Given the description of an element on the screen output the (x, y) to click on. 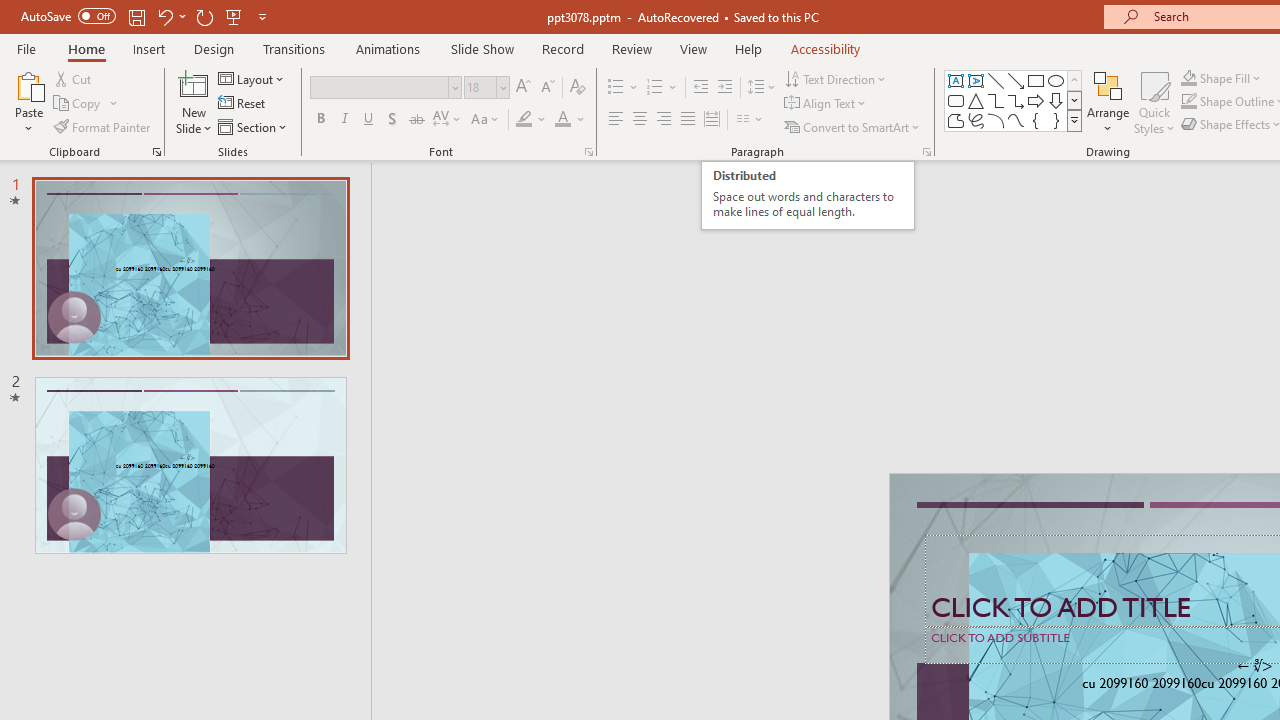
Shape Fill Dark Green, Accent 2 (1188, 78)
